Given the description of an element on the screen output the (x, y) to click on. 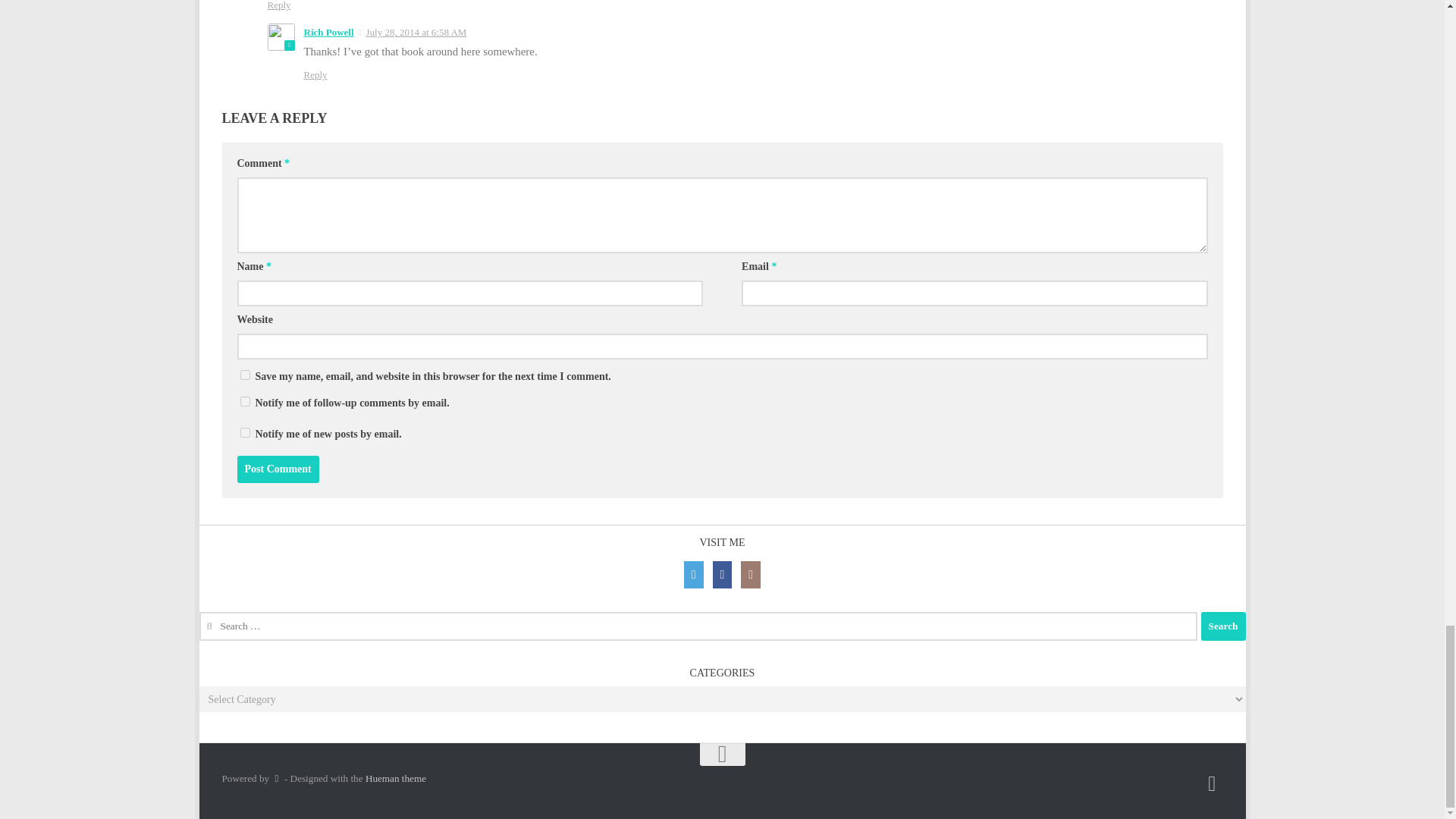
yes (244, 375)
Hueman theme (395, 778)
Follow us on Facebook-official (1212, 783)
Search (1223, 625)
Search (1223, 625)
subscribe (244, 401)
Post Comment (276, 469)
subscribe (244, 432)
Powered by WordPress (275, 777)
